Given the description of an element on the screen output the (x, y) to click on. 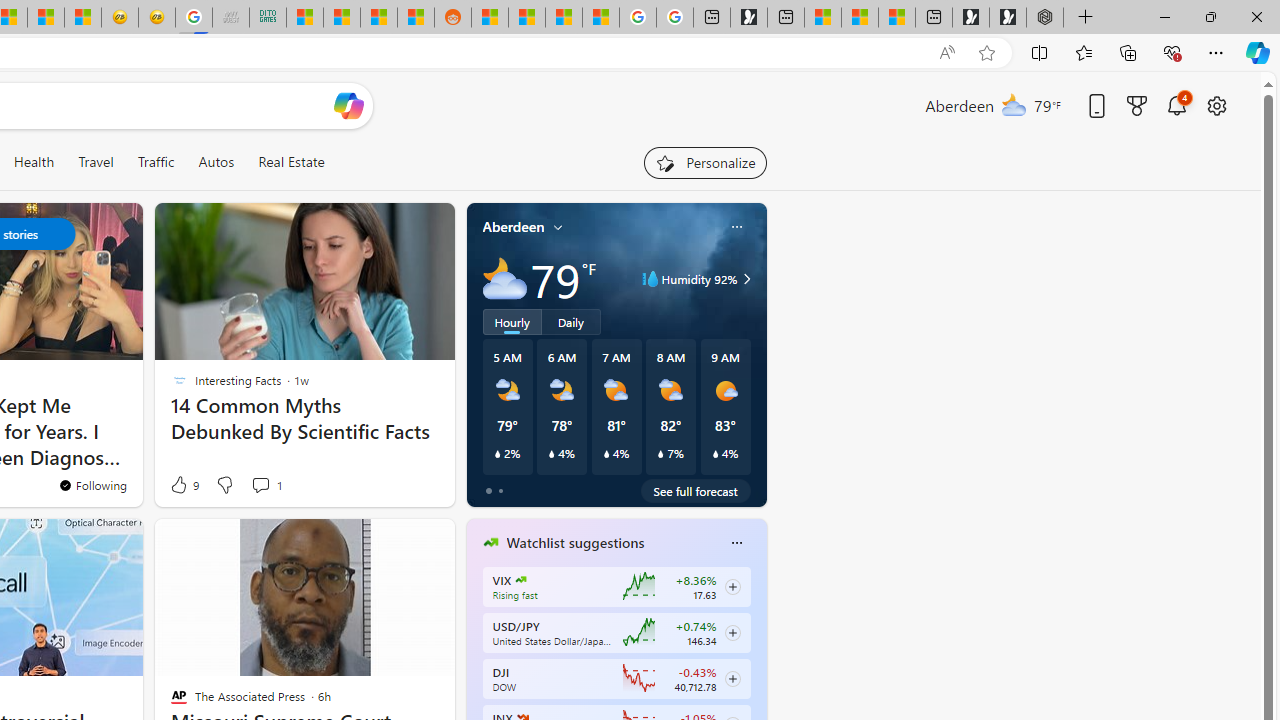
Class: follow-button  m (732, 678)
Class: weather-current-precipitation-glyph (715, 453)
previous (476, 670)
Hide this story (201, 542)
See full forecast (695, 490)
